Given the description of an element on the screen output the (x, y) to click on. 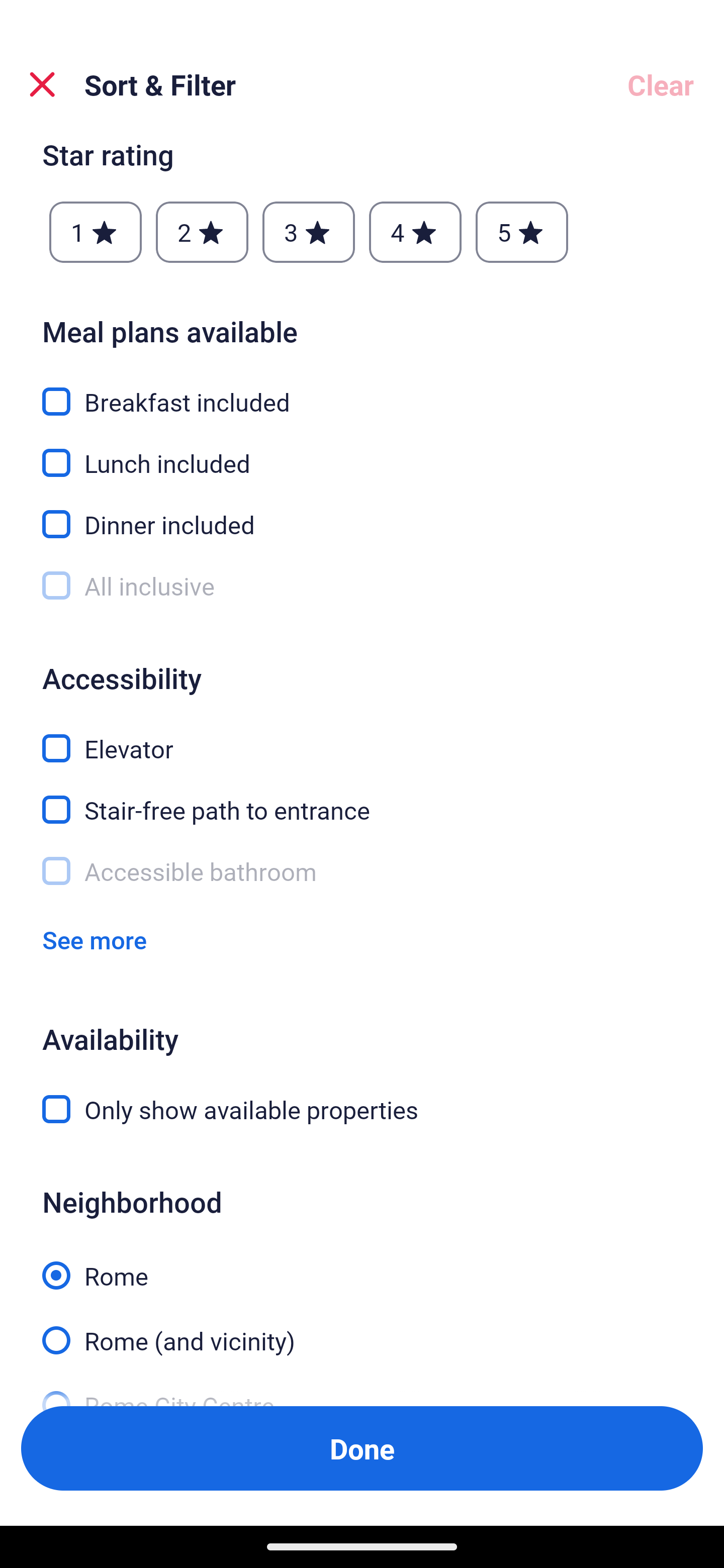
Close Sort and Filter (42, 84)
Clear (660, 84)
1 (95, 231)
2 (201, 231)
3 (308, 231)
4 (415, 231)
5 (521, 231)
Breakfast included, Breakfast included (361, 390)
Lunch included, Lunch included (361, 451)
Dinner included, Dinner included (361, 513)
All inclusive, All inclusive (361, 586)
Elevator, Elevator (361, 737)
Accessible bathroom, Accessible bathroom (361, 871)
See more See more accessibility options Link (93, 938)
Rome (and vicinity) (361, 1329)
Apply and close Sort and Filter Done (361, 1448)
